Given the description of an element on the screen output the (x, y) to click on. 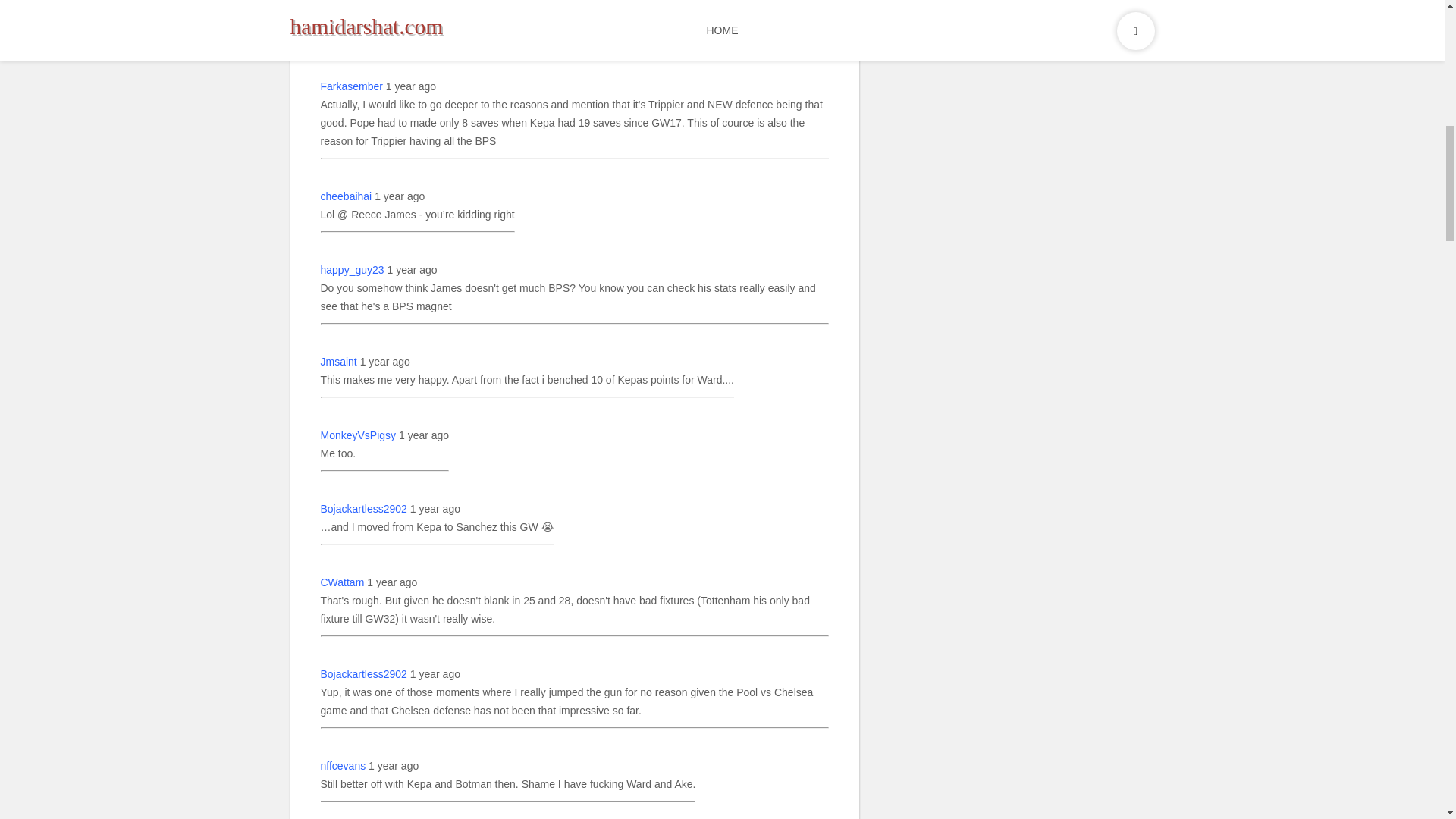
Farkasember (350, 85)
Jmsaint (338, 361)
cheebaihai (345, 196)
CWattam (342, 2)
Bojackartless2902 (363, 508)
CWattam (342, 582)
MonkeyVsPigsy (358, 434)
Bojackartless2902 (363, 674)
nffcevans (342, 765)
